Given the description of an element on the screen output the (x, y) to click on. 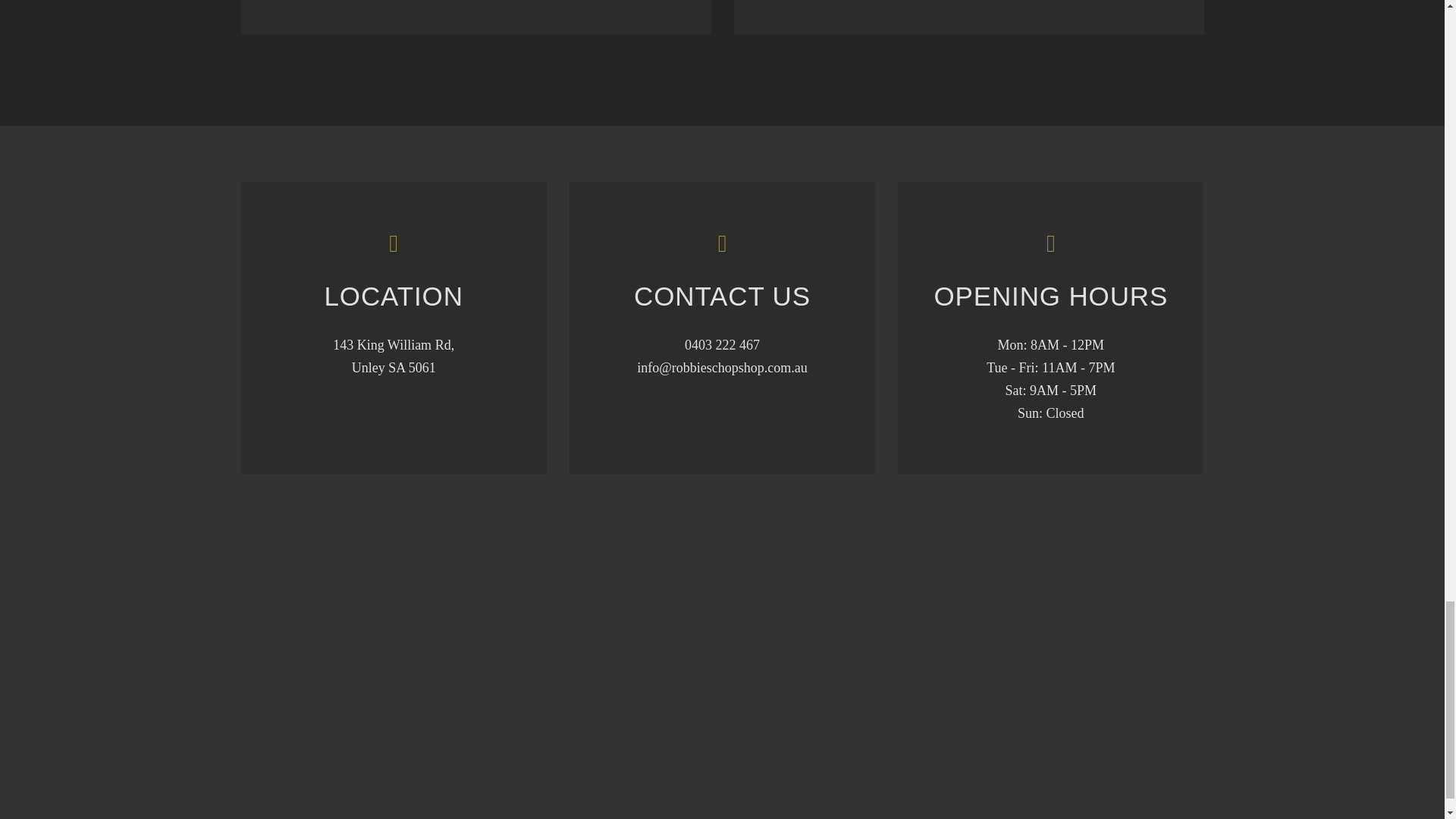
0403 222 467 (722, 344)
